Given the description of an element on the screen output the (x, y) to click on. 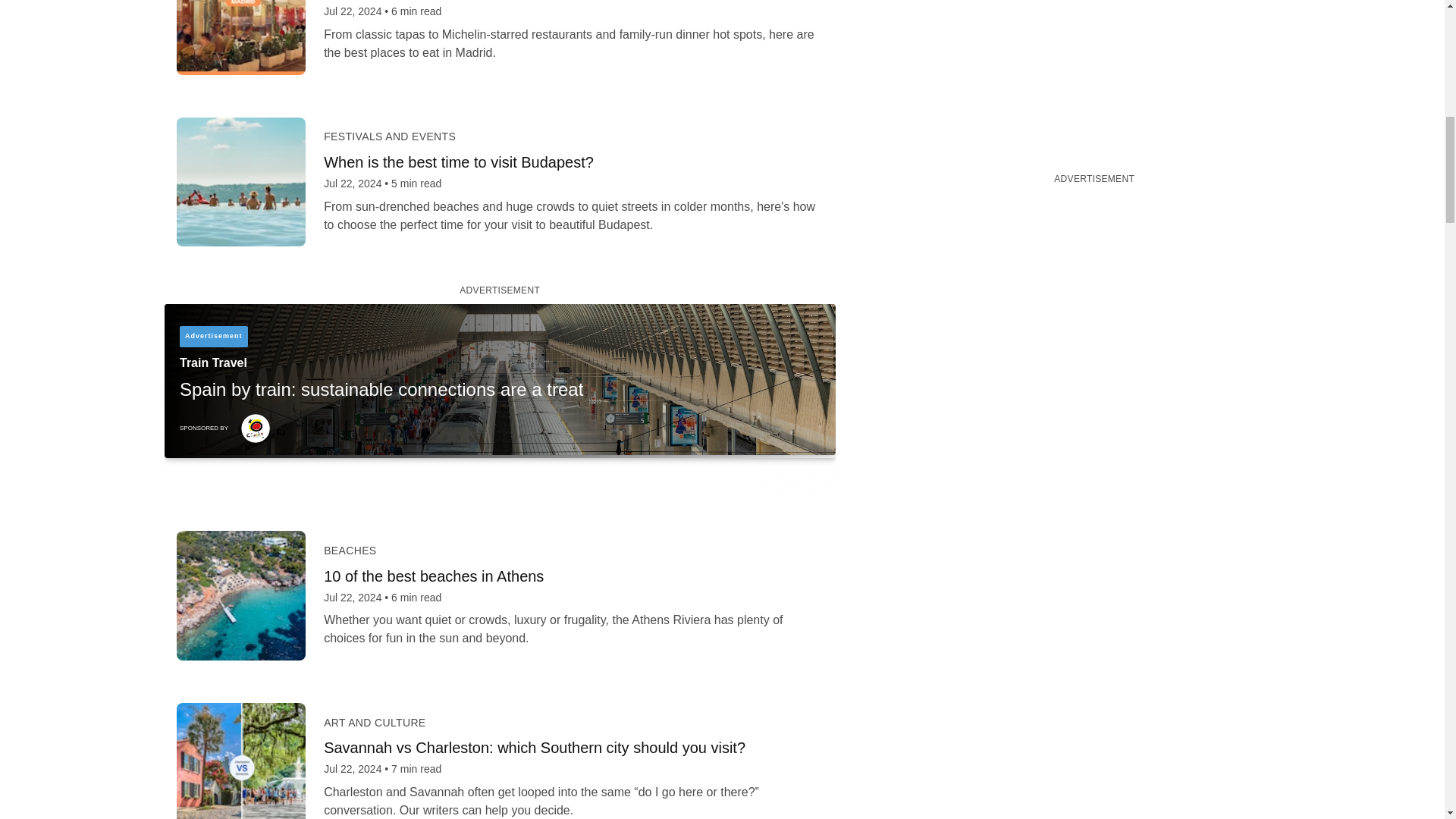
When is the best time to visit Budapest? (573, 161)
3rd party ad content (1093, 65)
10 of the best beaches in Athens (573, 576)
3rd party ad content (498, 397)
